Given the description of an element on the screen output the (x, y) to click on. 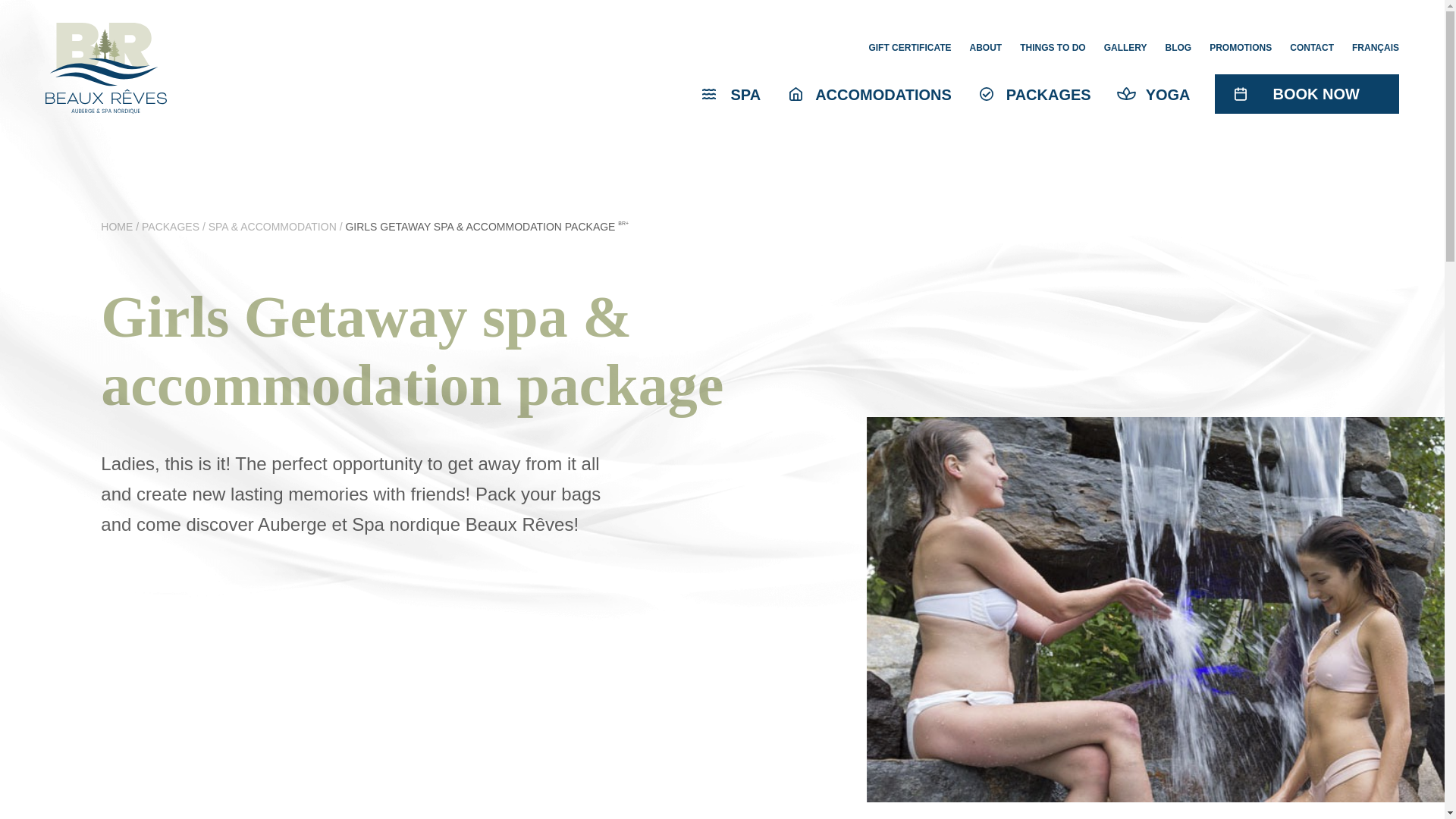
BLOG (1178, 47)
ACCOMODATIONS (887, 93)
CONTACT (1311, 47)
GALLERY (1125, 47)
YOGA (1172, 93)
BOOK NOW (1315, 90)
THINGS TO DO (1052, 47)
ABOUT (985, 47)
PROMOTIONS (1240, 47)
SPA (750, 93)
GIFT CERTIFICATE (909, 47)
PACKAGES (1053, 93)
